Given the description of an element on the screen output the (x, y) to click on. 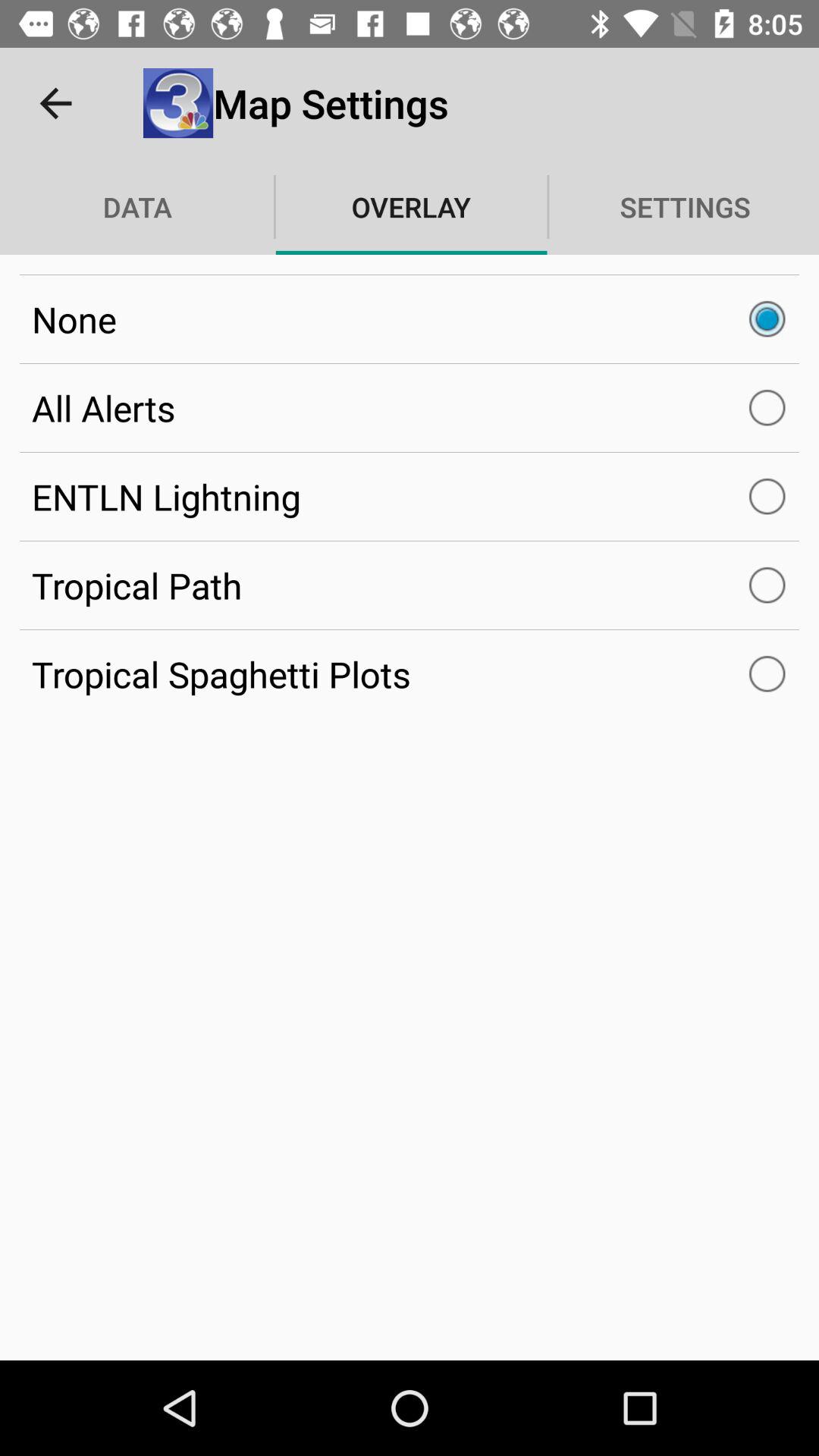
flip until tropical path item (409, 585)
